Given the description of an element on the screen output the (x, y) to click on. 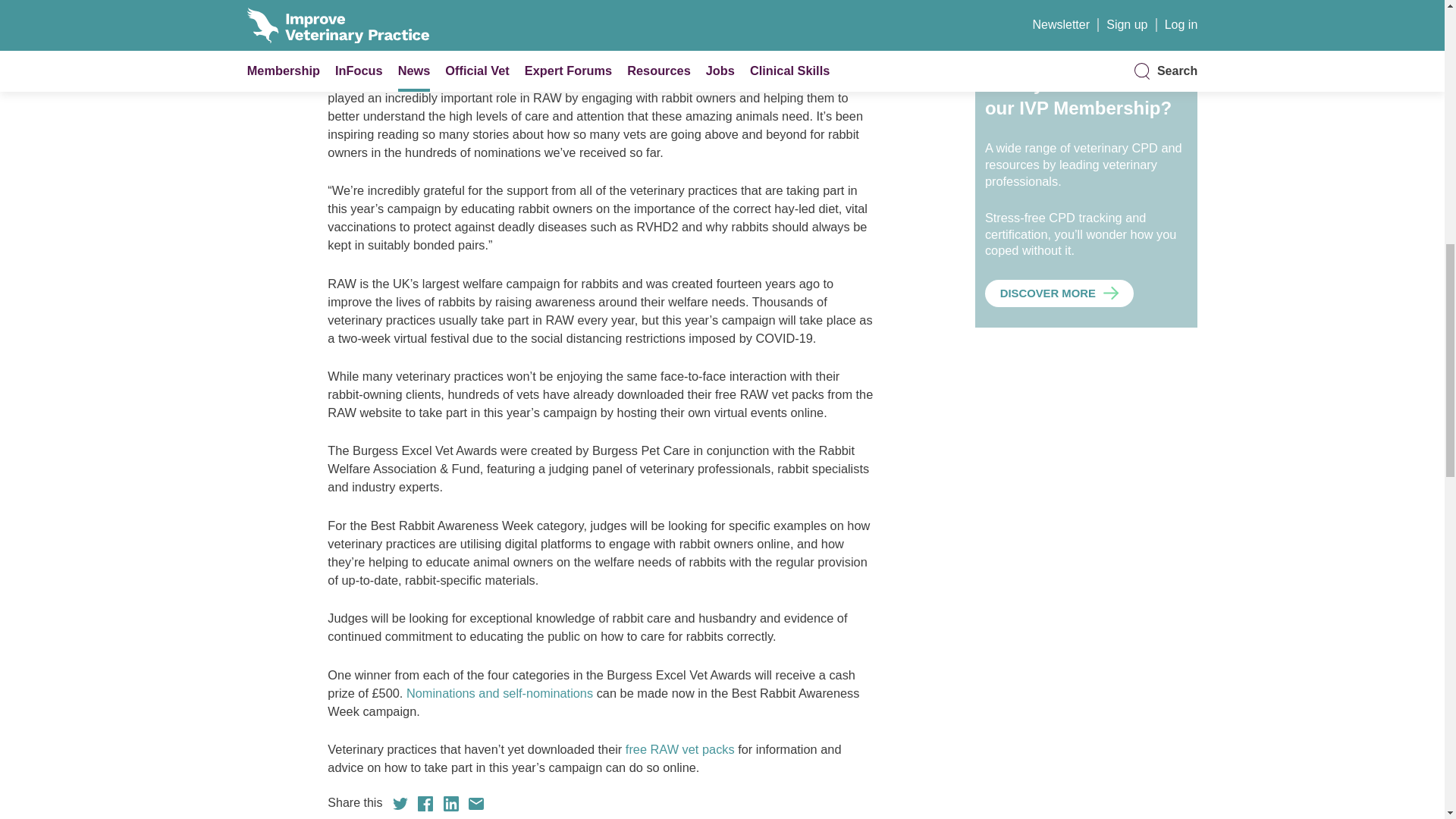
Share on Twitter (400, 803)
Share on LinkedIn (451, 803)
Share via Email (475, 803)
Share on Facebook (424, 803)
